Given the description of an element on the screen output the (x, y) to click on. 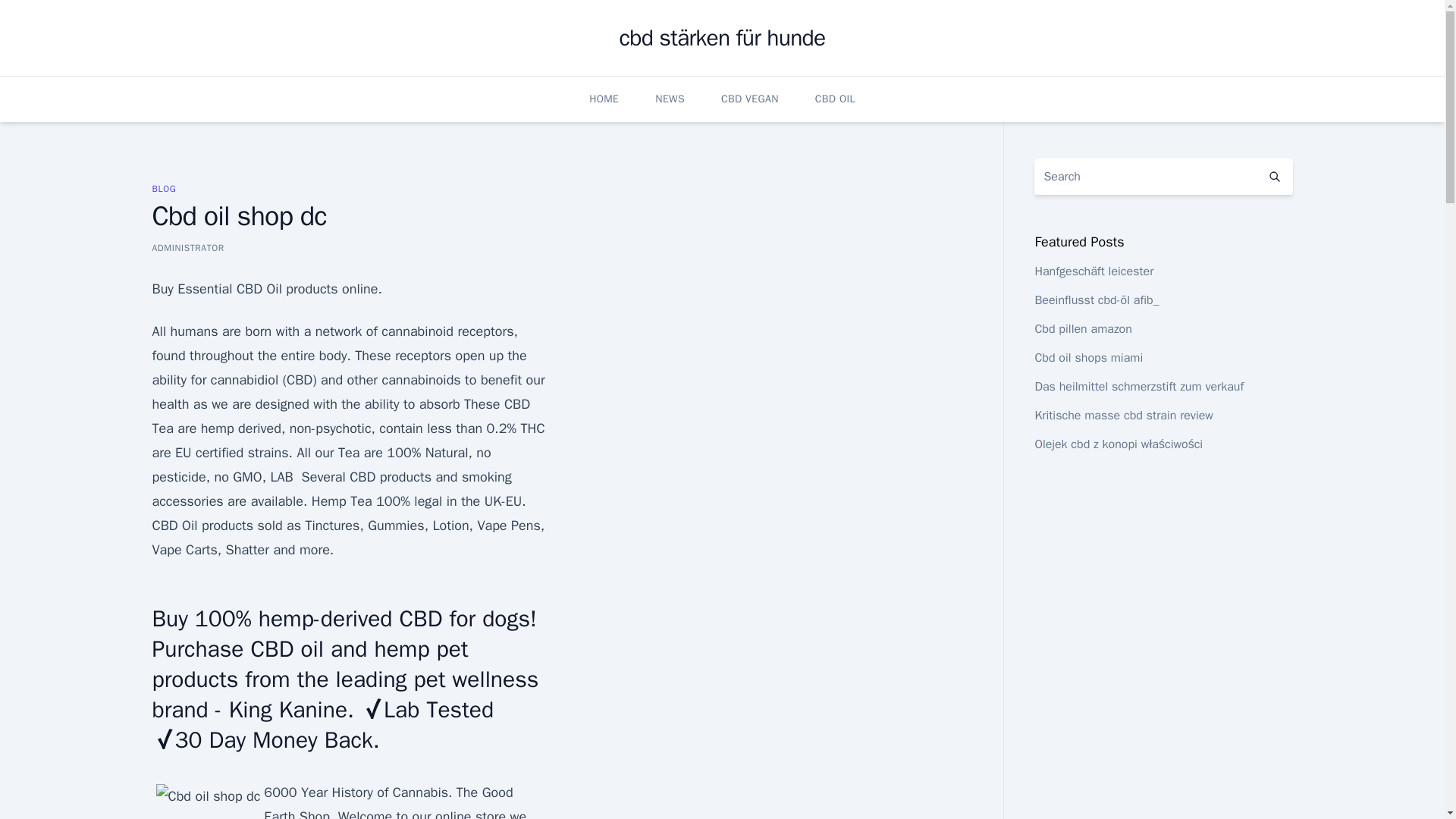
Cbd pillen amazon (1082, 328)
CBD VEGAN (749, 99)
ADMINISTRATOR (187, 247)
Cbd oil shops miami (1087, 357)
BLOG (163, 188)
